Given the description of an element on the screen output the (x, y) to click on. 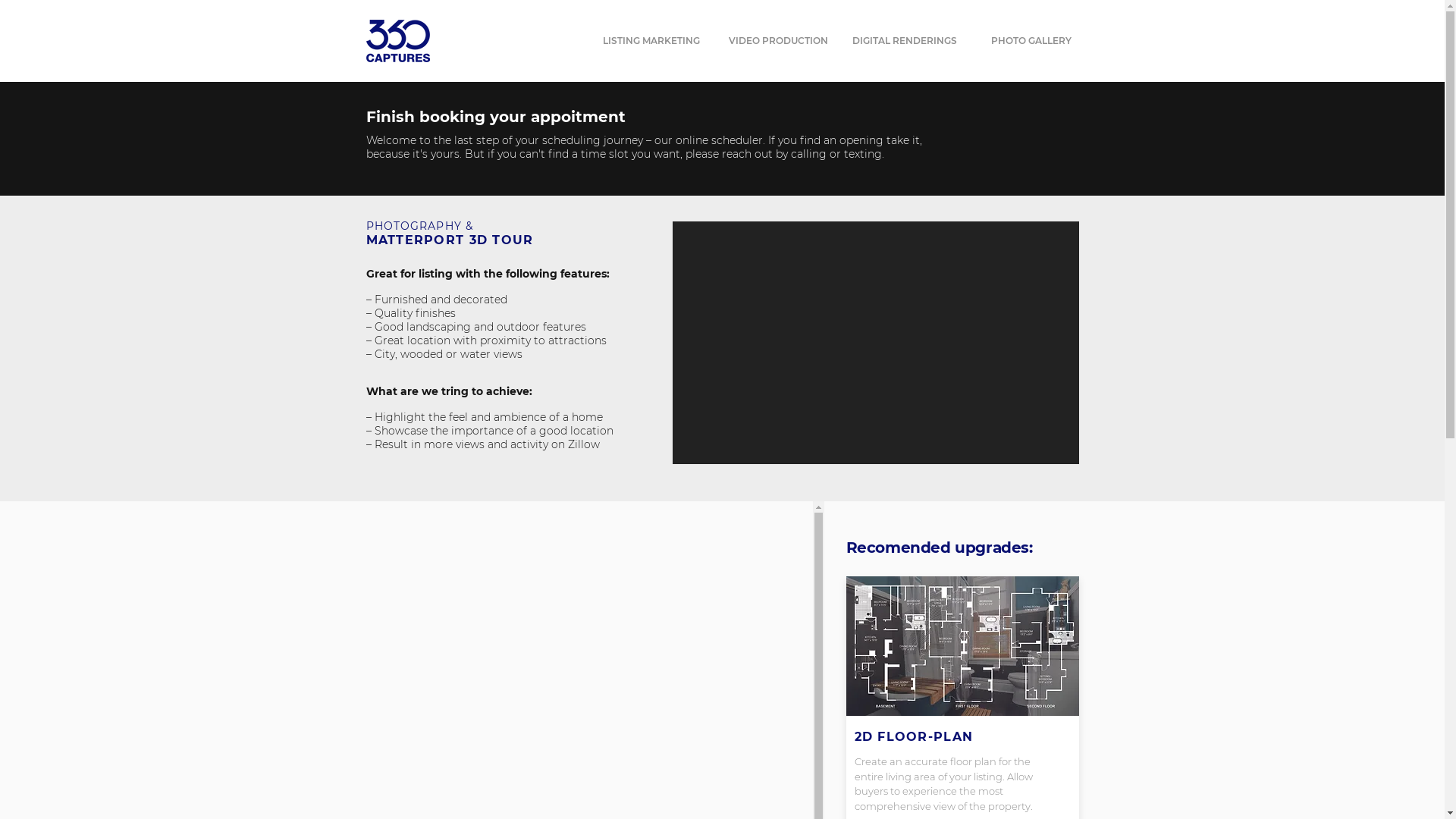
PHOTO GALLERY Element type: text (1030, 40)
LISTING MARKETING Element type: text (651, 40)
VIDEO PRODUCTION Element type: text (777, 40)
Embedded Content Element type: hover (874, 347)
DIGITAL RENDERINGS Element type: text (904, 40)
